Given the description of an element on the screen output the (x, y) to click on. 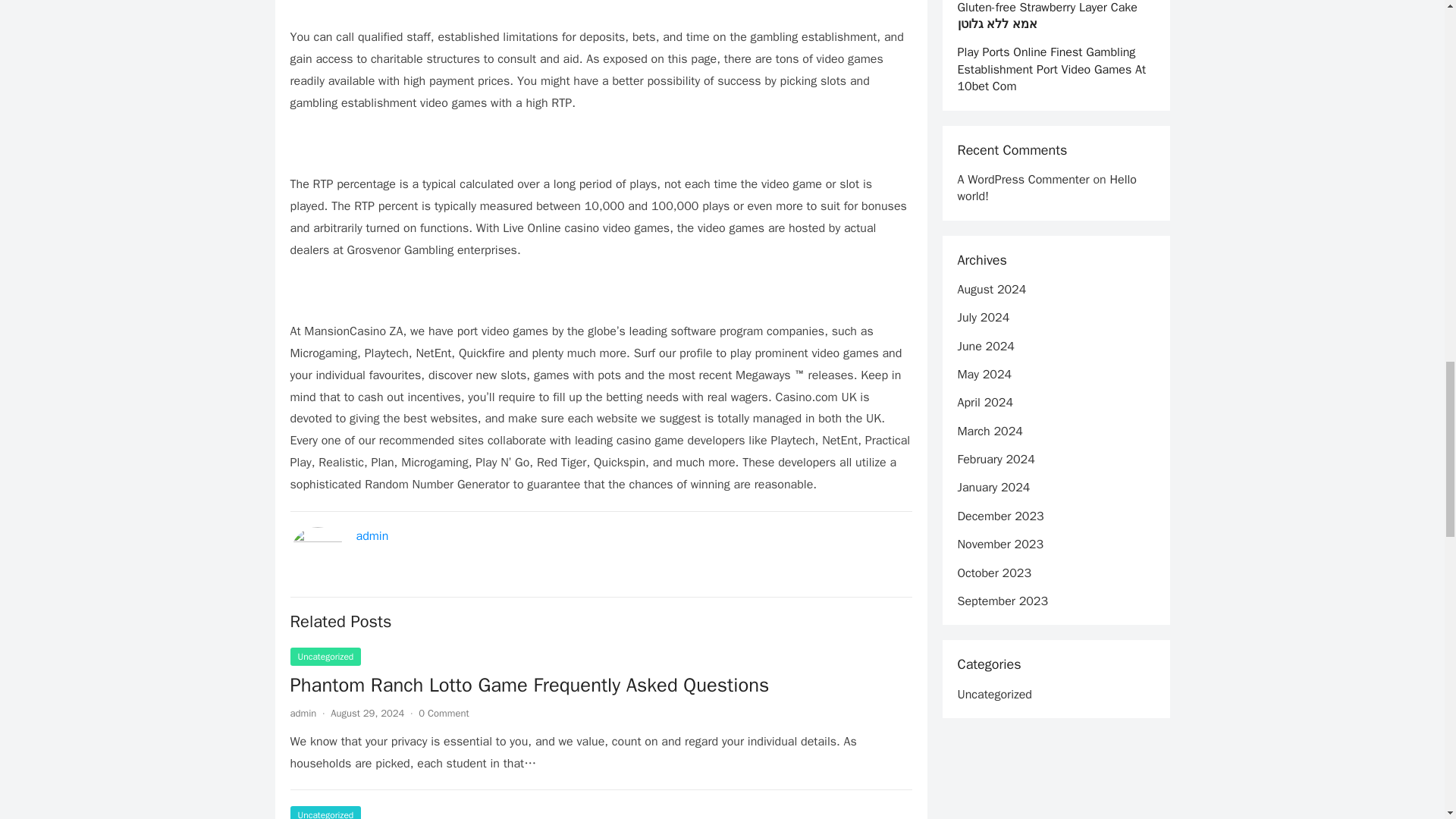
0 Comment (443, 712)
Uncategorized (325, 812)
Uncategorized (325, 656)
admin (372, 535)
admin (302, 712)
Posts by admin (302, 712)
Phantom Ranch Lotto Game Frequently Asked Questions (600, 685)
